Given the description of an element on the screen output the (x, y) to click on. 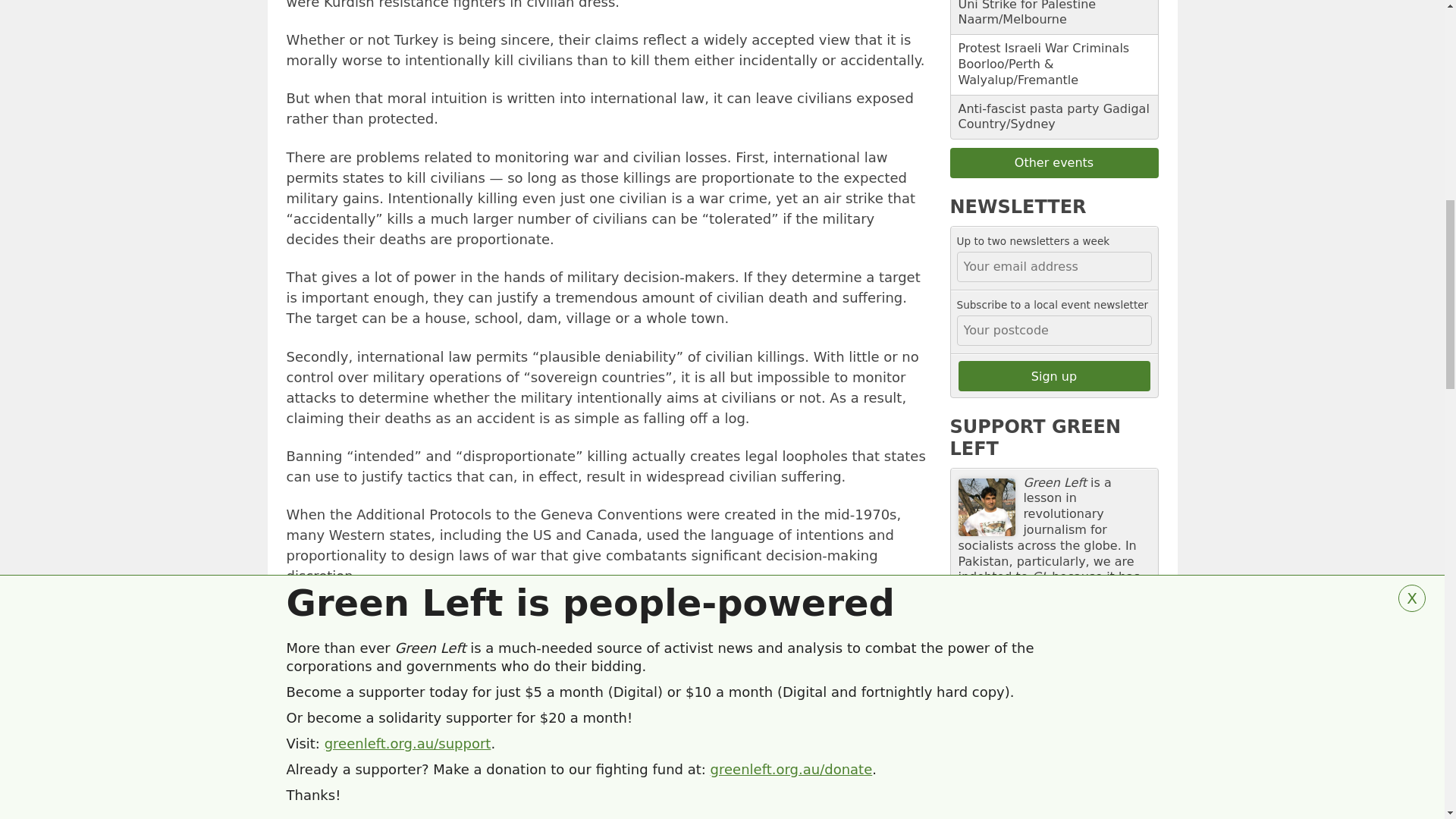
Sign up (1054, 376)
